Given the description of an element on the screen output the (x, y) to click on. 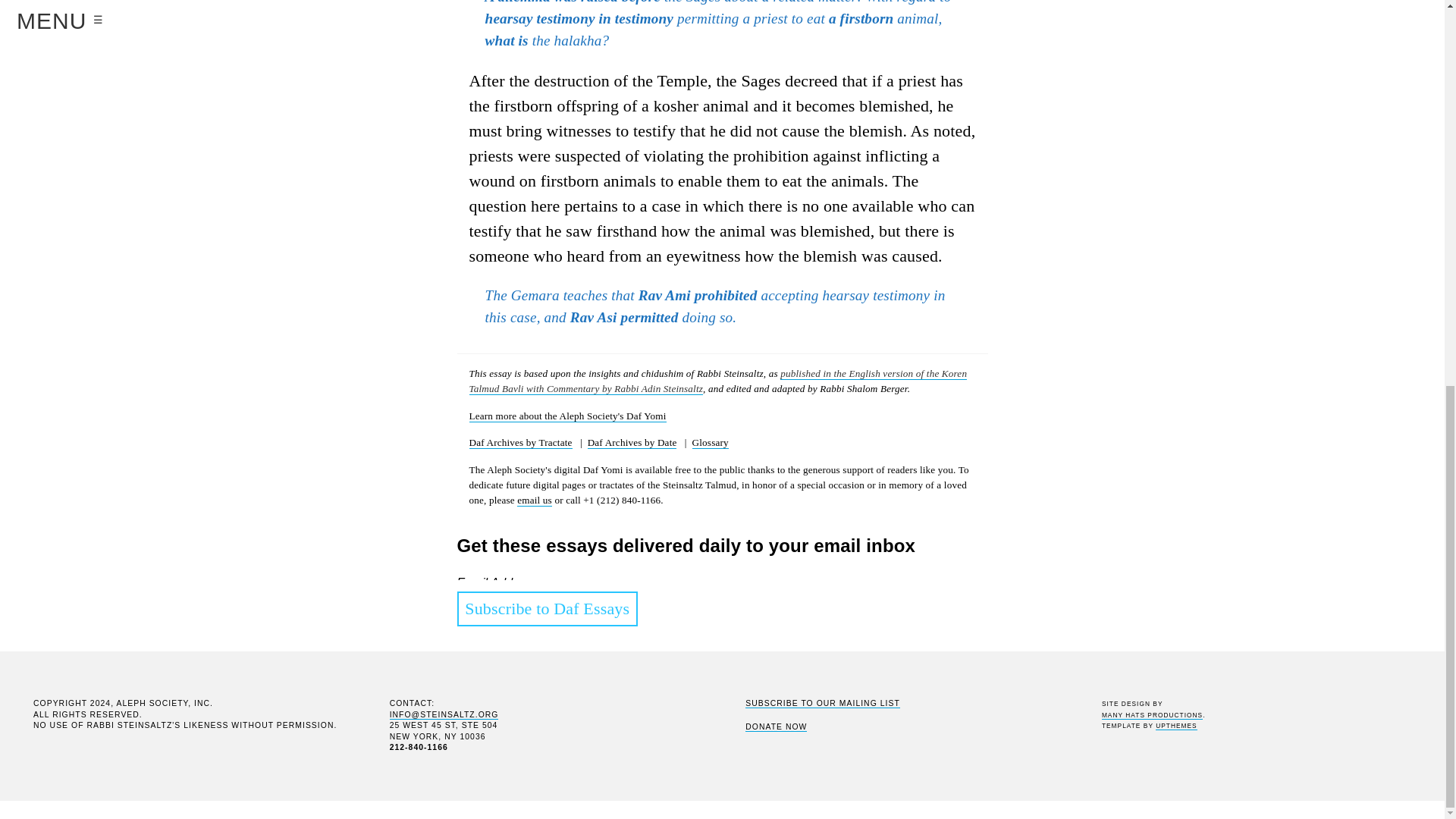
Glossary (711, 442)
email us (533, 500)
Subscribe to Daf Essays (547, 608)
Daf Archives by Date (632, 442)
Subscribe (490, 793)
Daf Archives by Tractate (520, 442)
Learn more about the Aleph Society's Daf Yomi (566, 416)
